Given the description of an element on the screen output the (x, y) to click on. 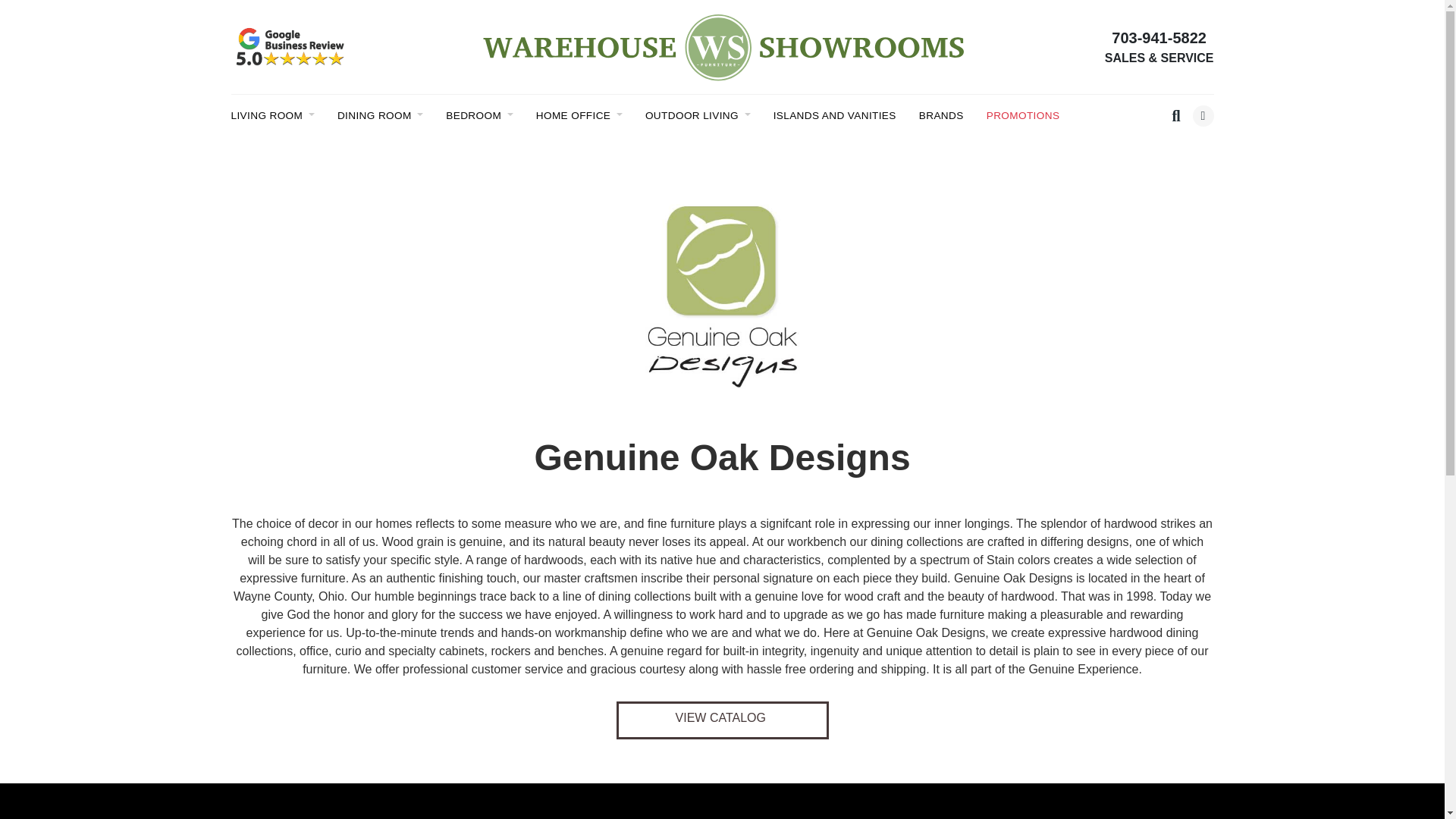
703-941-5822 (1159, 37)
